Given the description of an element on the screen output the (x, y) to click on. 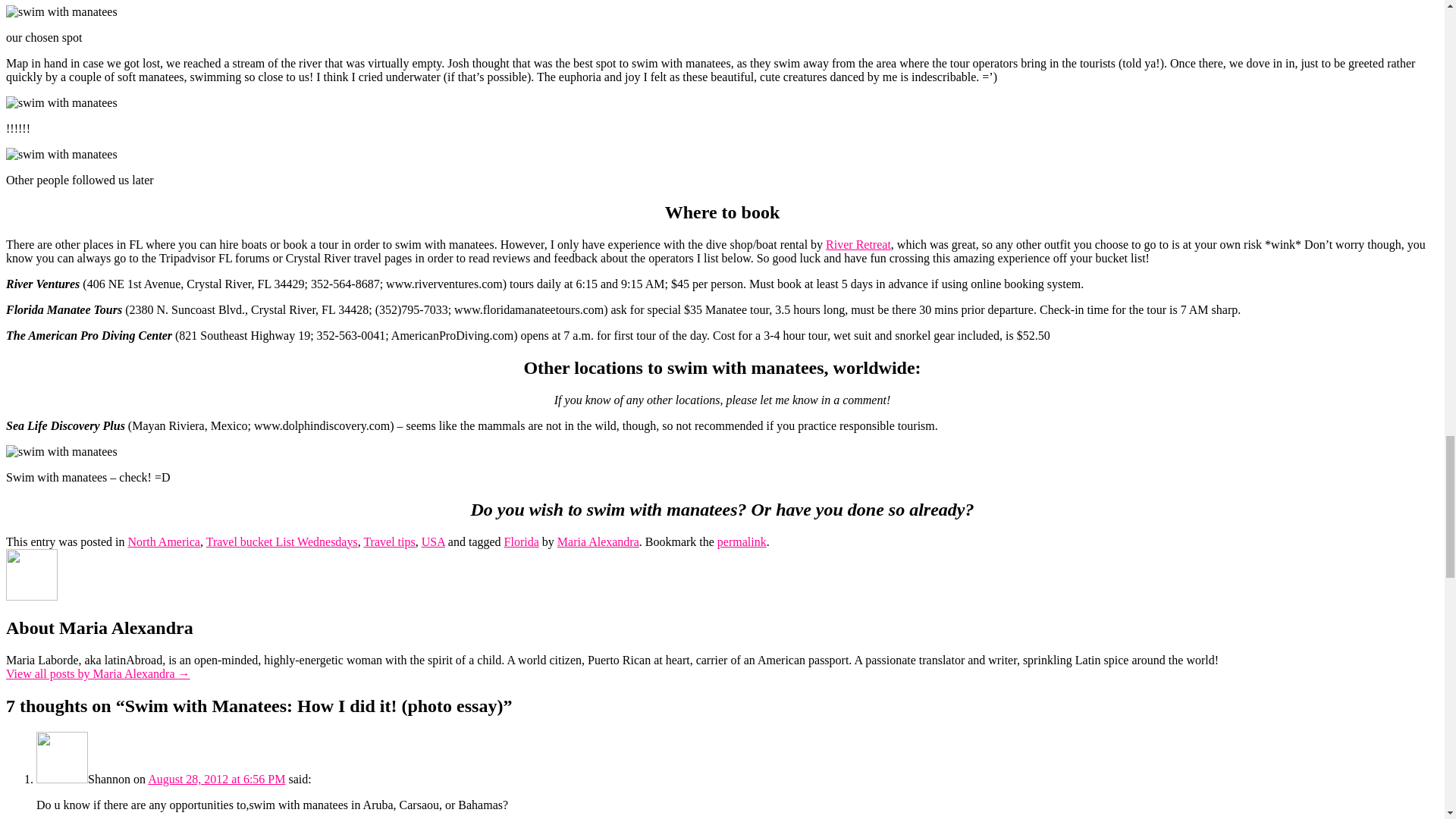
swim with manatees (61, 102)
swim with manatees (61, 154)
swim with manatees (61, 451)
swim with manatees (61, 11)
